Given the description of an element on the screen output the (x, y) to click on. 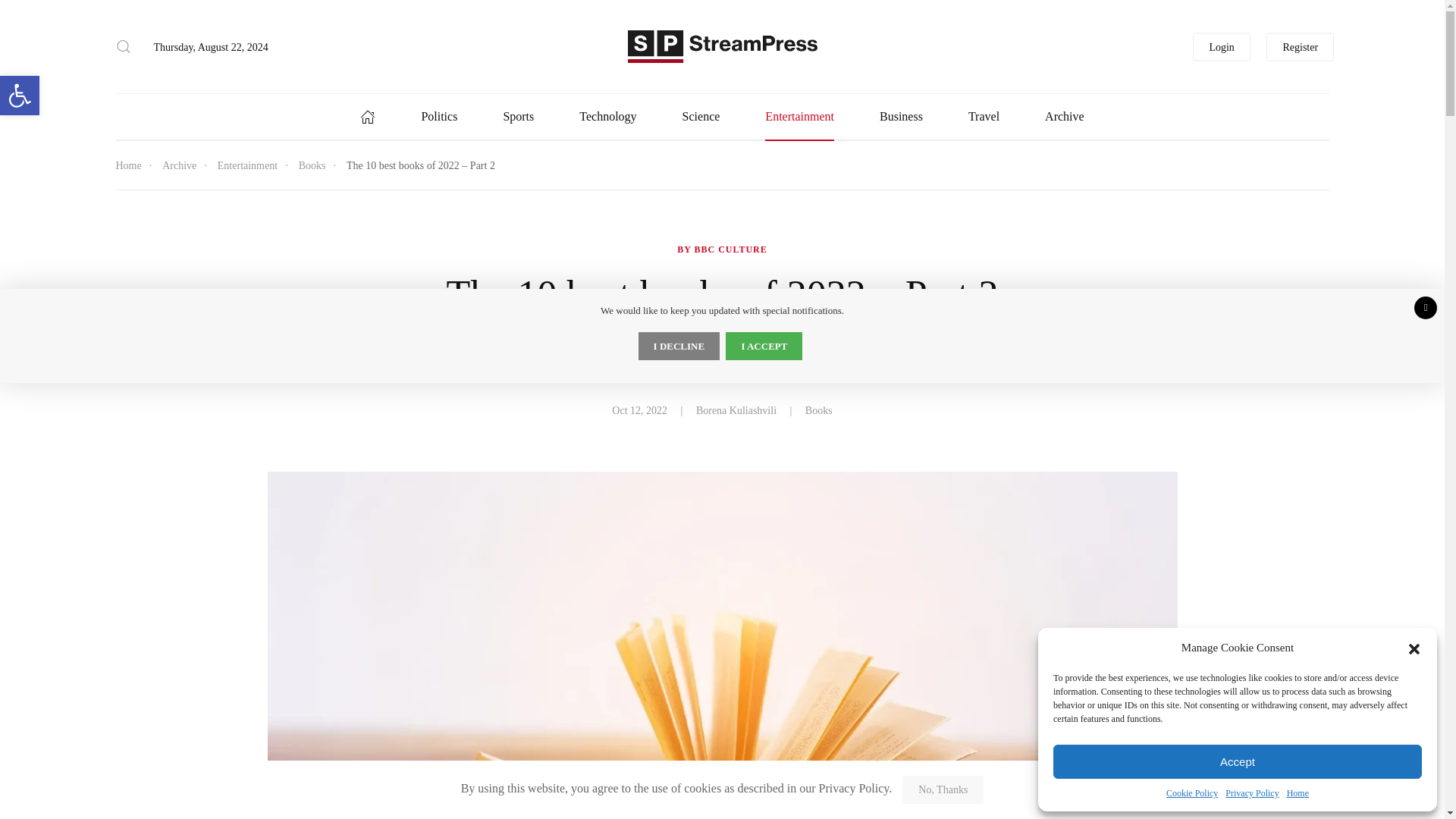
Cookie Policy (1191, 793)
Accessibility Tools (19, 95)
Home (1297, 793)
Accept (1237, 761)
Privacy Policy (19, 95)
Accessibility Tools (1251, 793)
